Given the description of an element on the screen output the (x, y) to click on. 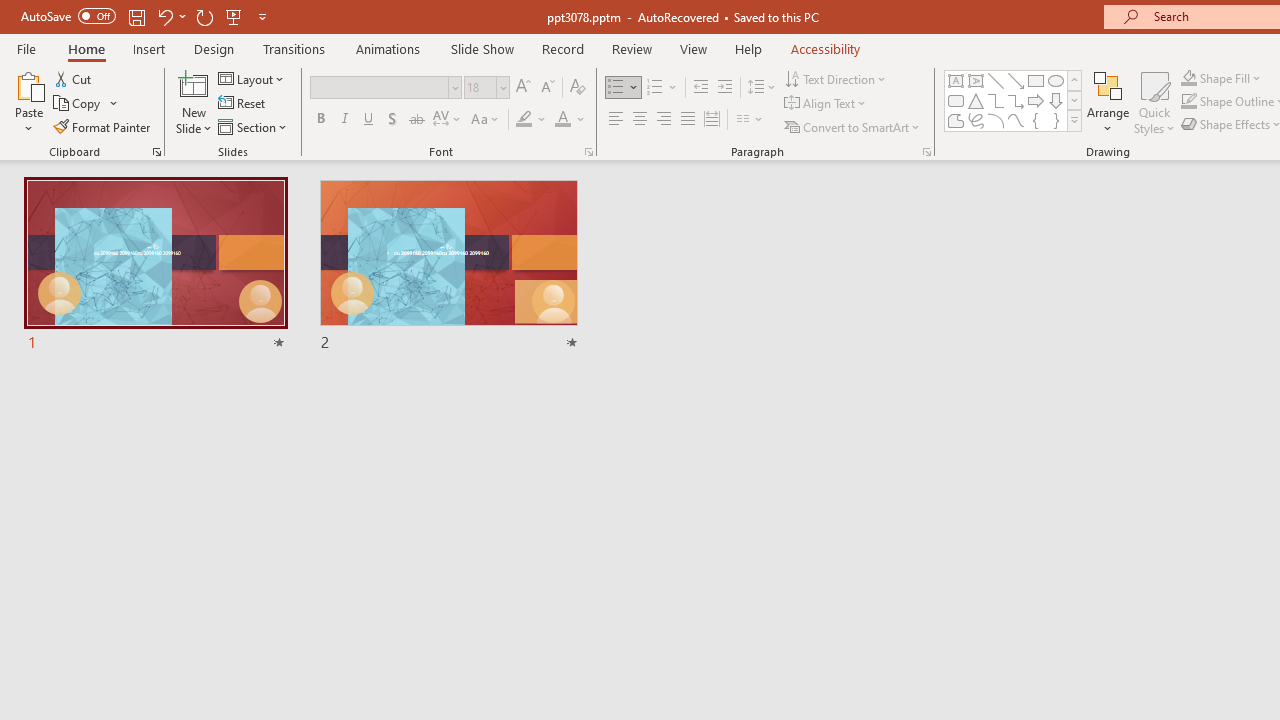
Shape Fill Dark Green, Accent 2 (1188, 78)
